Given the description of an element on the screen output the (x, y) to click on. 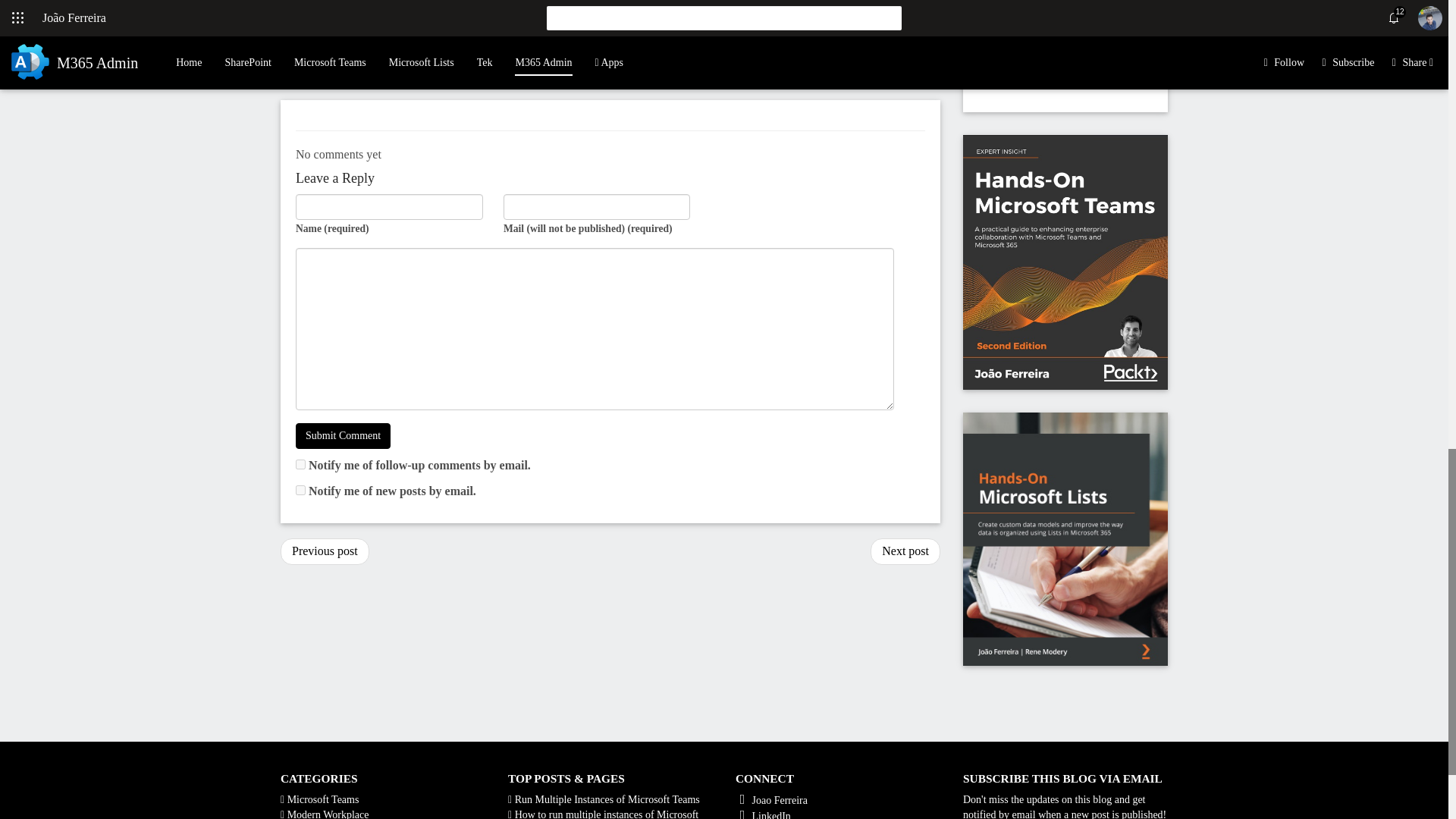
subscribe (300, 490)
Next post (905, 551)
Previous post (325, 551)
Submit Comment (342, 435)
subscribe (300, 464)
Download quarantined files now available (325, 551)
Submit Comment (342, 435)
